Given the description of an element on the screen output the (x, y) to click on. 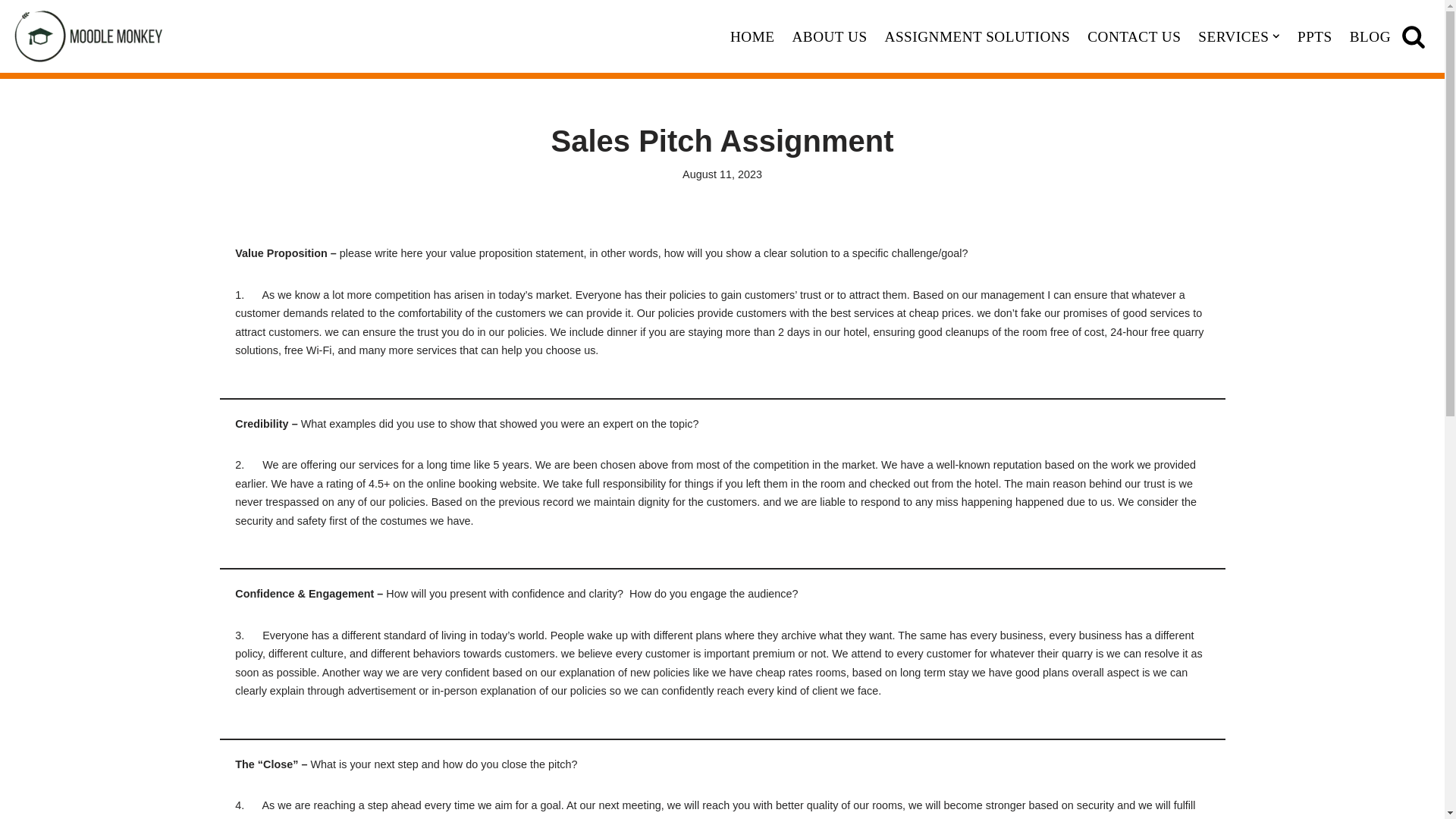
Skip to content (11, 31)
PPTS (1314, 35)
HOME (752, 35)
BLOG (1369, 35)
ASSIGNMENT SOLUTIONS (977, 35)
SERVICES (1233, 35)
CONTACT US (1133, 35)
ABOUT US (829, 35)
